Given the description of an element on the screen output the (x, y) to click on. 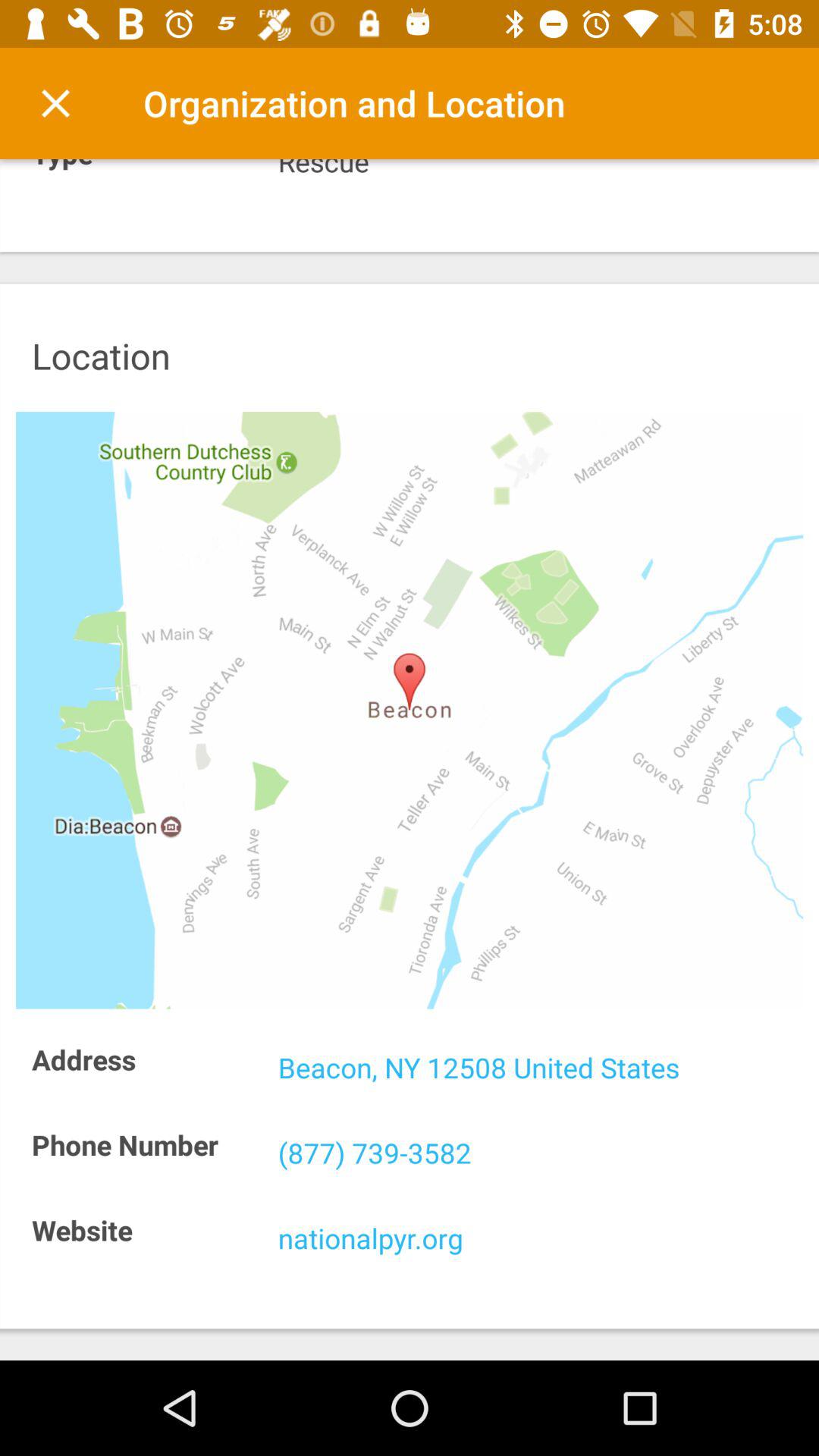
turn on item above the type icon (55, 103)
